Given the description of an element on the screen output the (x, y) to click on. 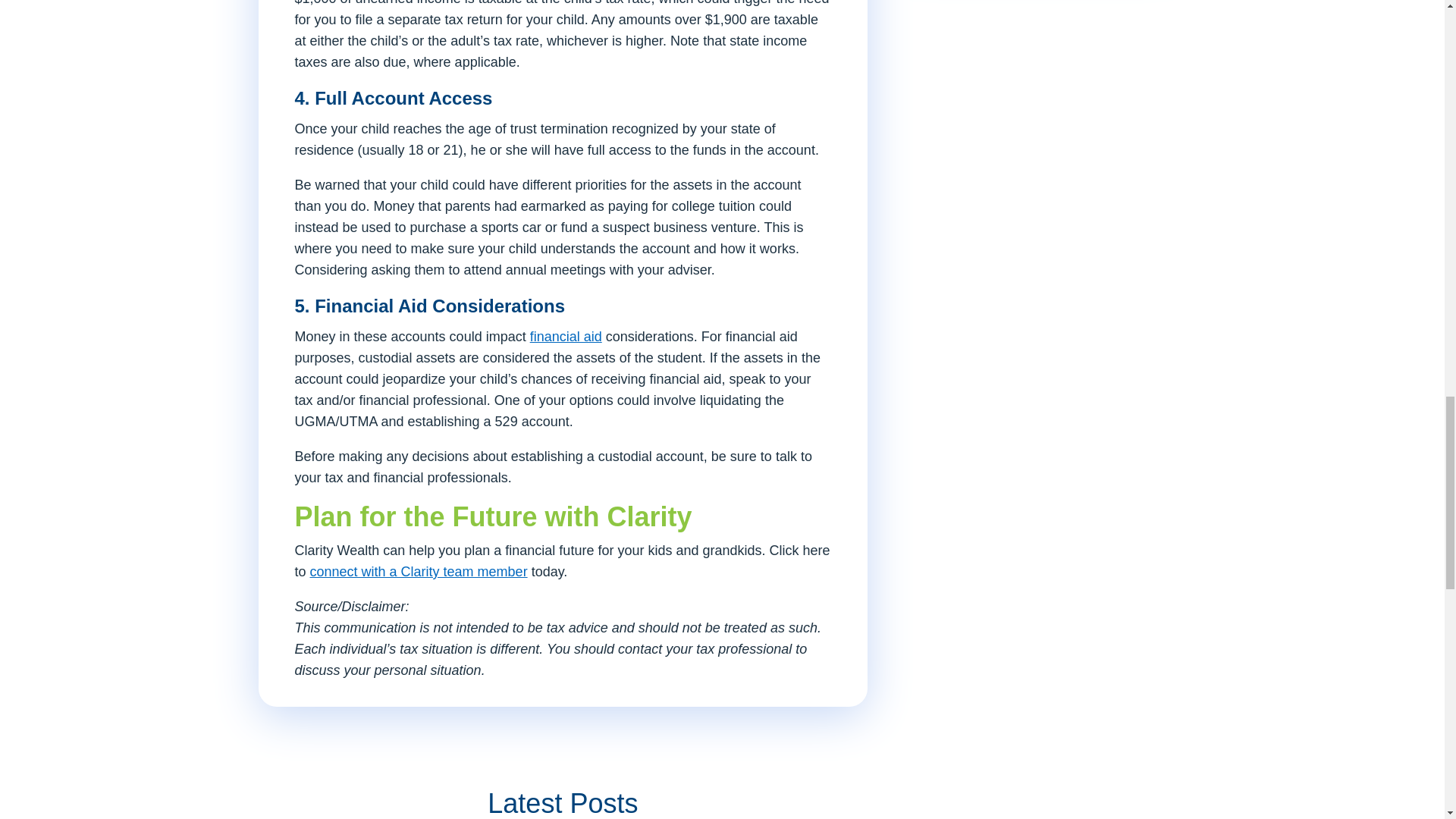
connect with a Clarity team member (418, 571)
financial aid (565, 336)
